Given the description of an element on the screen output the (x, y) to click on. 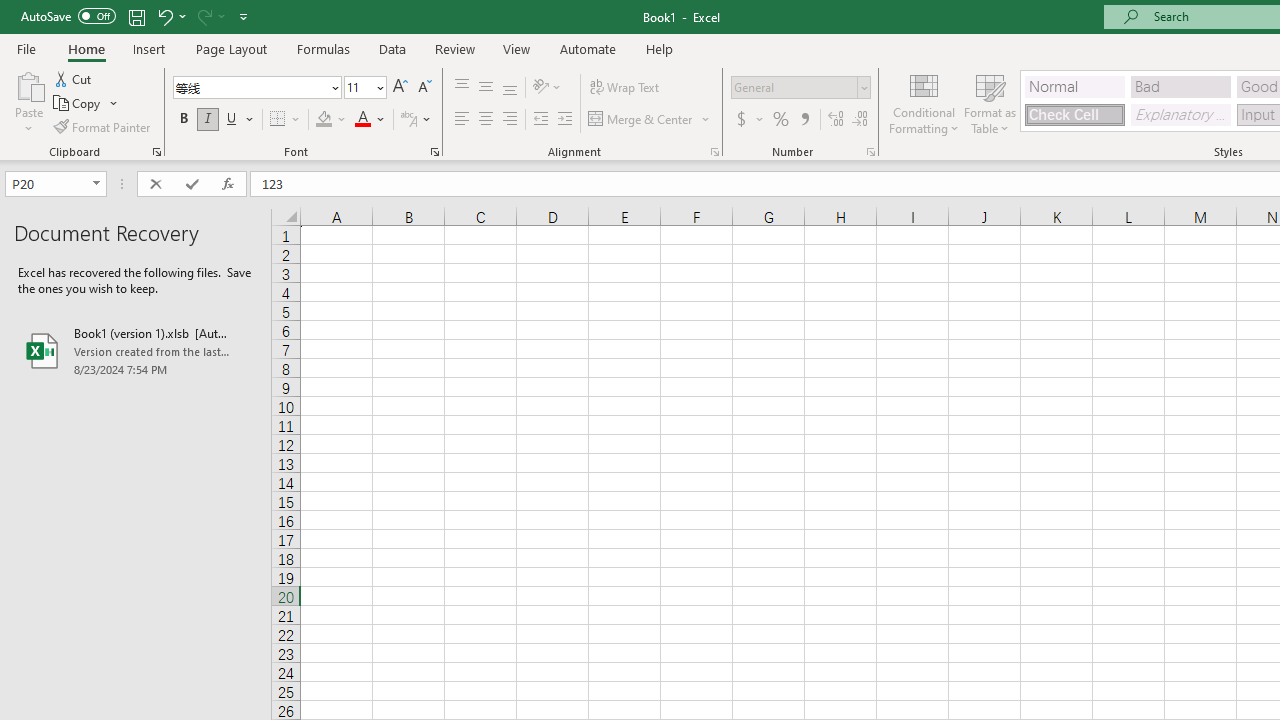
Increase Decimal (836, 119)
Merge & Center (641, 119)
Format Cell Number (870, 151)
Paste (28, 84)
Copy (78, 103)
Automate (588, 48)
Merge & Center (649, 119)
Format Cell Font (434, 151)
Save (136, 15)
Font (256, 87)
Number Format (794, 87)
Show Phonetic Field (408, 119)
Underline (232, 119)
Paste (28, 102)
Increase Indent (565, 119)
